Given the description of an element on the screen output the (x, y) to click on. 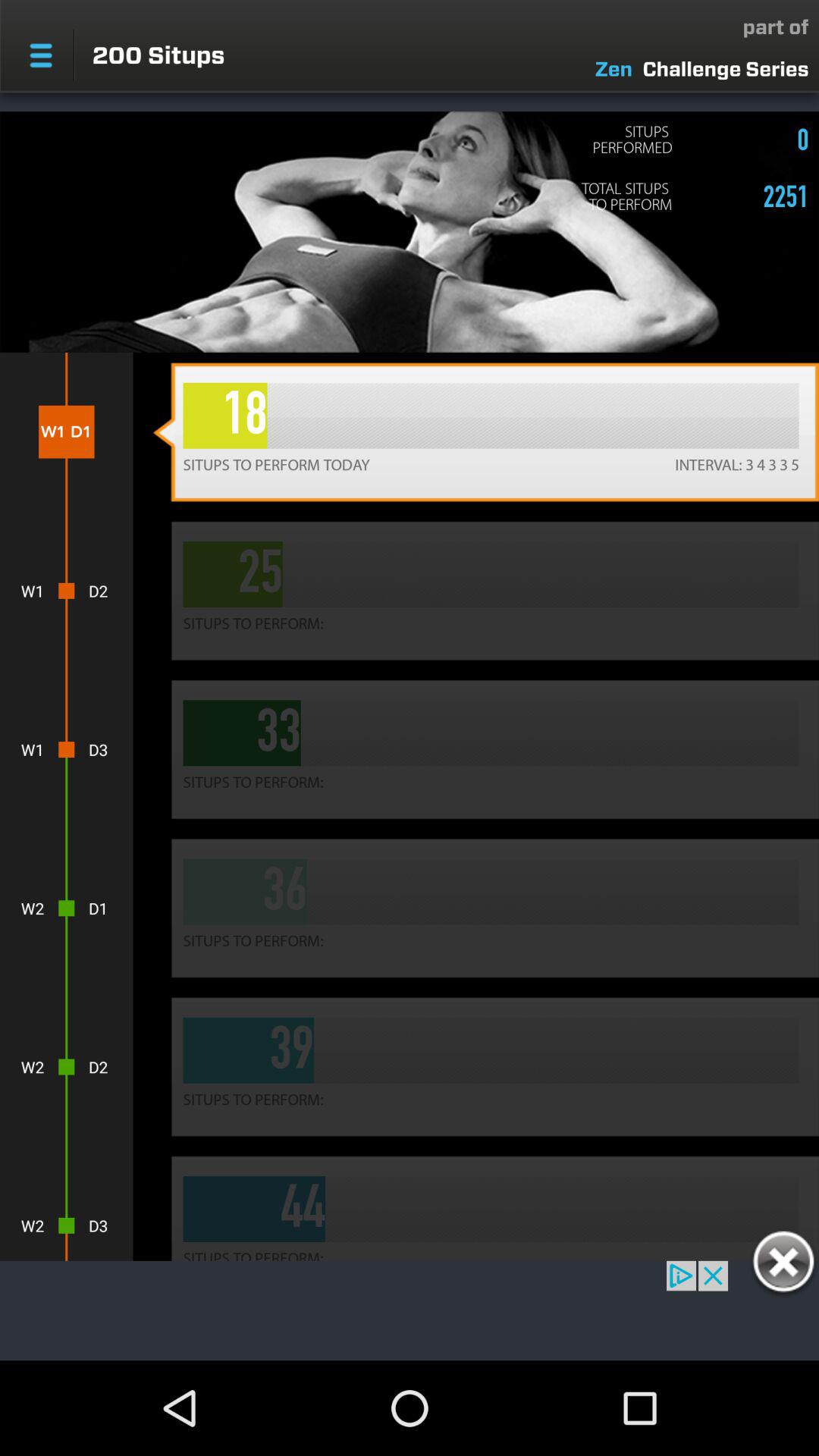
click on advertisements (409, 1310)
